Given the description of an element on the screen output the (x, y) to click on. 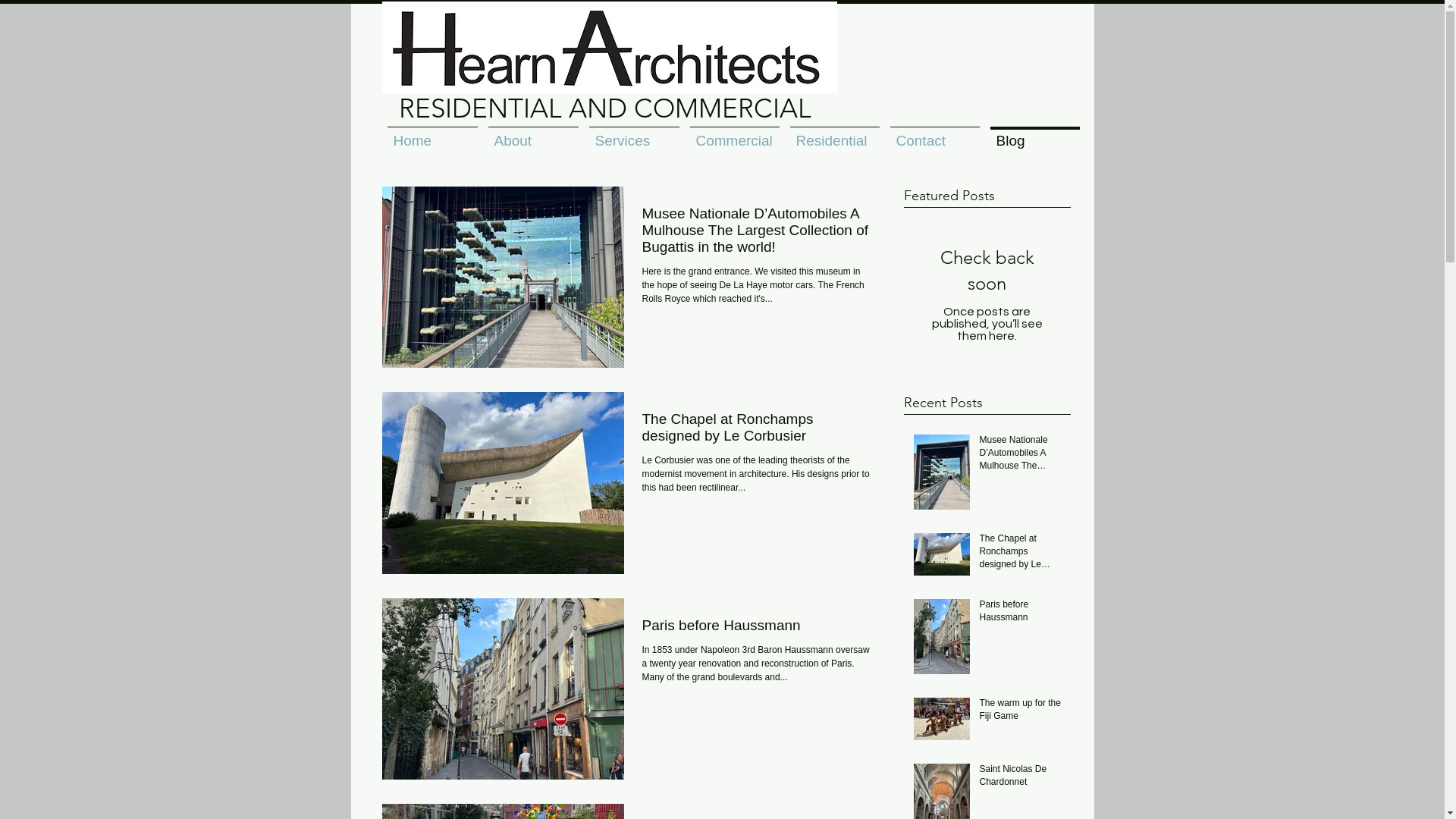
Home Element type: text (432, 133)
Saint Nicolas De Chardonnet Element type: text (1020, 778)
HearnArchitects-LOGO.jpg Element type: hover (609, 47)
Paris before Haussmann Element type: text (1020, 614)
The Chapel at Ronchamps designed by Le Corbusier Element type: text (756, 431)
Blog Element type: text (1034, 133)
Commercial Element type: text (734, 133)
About Element type: text (532, 133)
Residential Element type: text (834, 133)
Paris before Haussmann Element type: text (756, 628)
Services Element type: text (633, 133)
The warm up for the Fiji Game Element type: text (1020, 712)
Contact Element type: text (934, 133)
The Chapel at Ronchamps designed by Le Corbusier Element type: text (1020, 554)
